Given the description of an element on the screen output the (x, y) to click on. 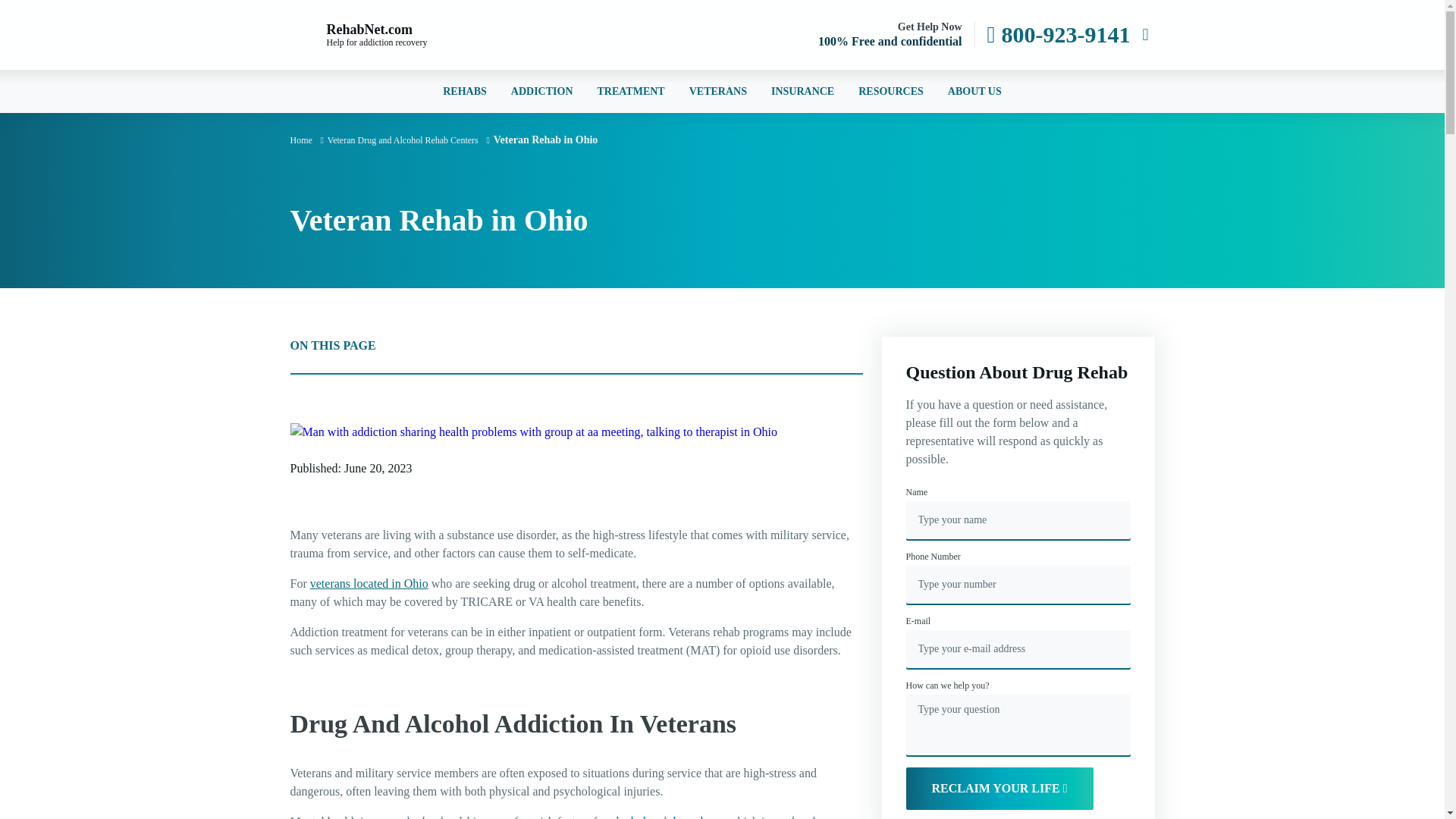
800-923-9141 (1059, 34)
REHABS (464, 91)
Home (387, 34)
